Given the description of an element on the screen output the (x, y) to click on. 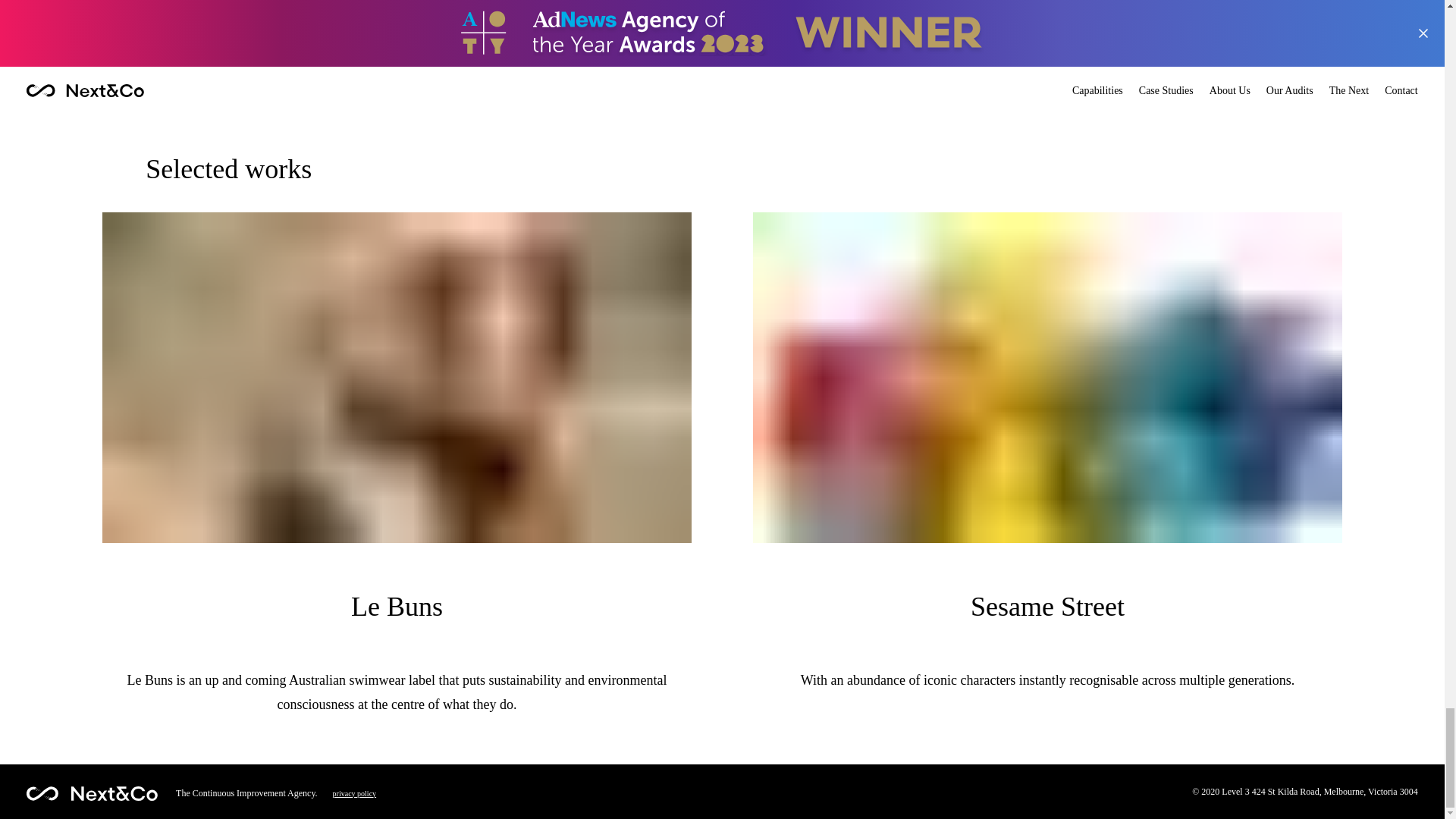
Get in touch about your project (721, 47)
Logo (91, 793)
Sesame Street (1047, 610)
Le Buns (396, 610)
privacy policy (354, 793)
